Given the description of an element on the screen output the (x, y) to click on. 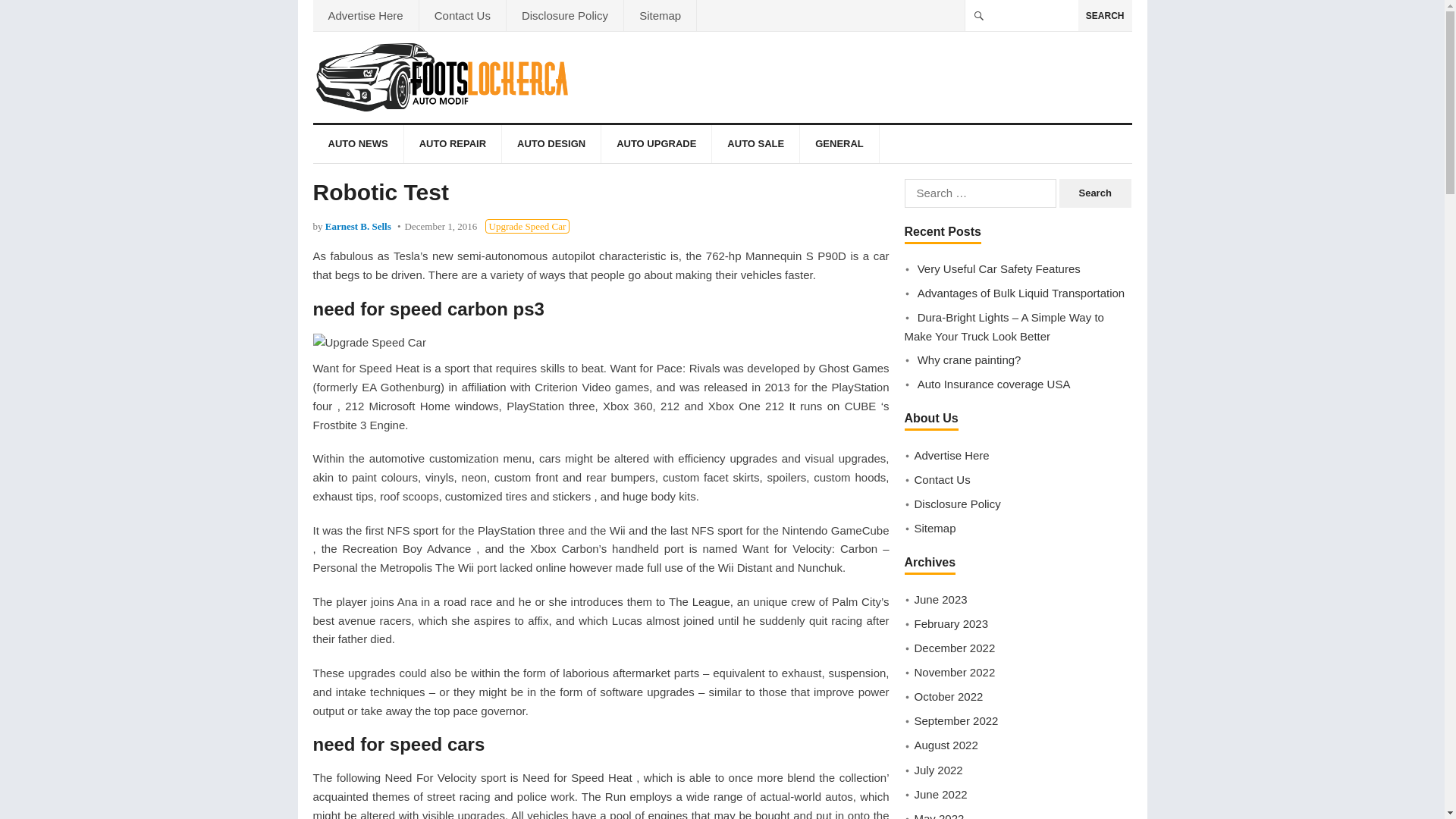
Advertise Here (365, 15)
Disclosure Policy (564, 15)
Posts by Earnest B. Sells (357, 225)
Search (1095, 193)
View all posts in Upgrade Speed Car (527, 226)
AUTO REPAIR (452, 143)
AUTO SALE (755, 143)
AUTO DESIGN (550, 143)
GENERAL (839, 143)
AUTO UPGRADE (656, 143)
SEARCH (1105, 15)
Sitemap (659, 15)
Search (1095, 193)
Contact Us (462, 15)
AUTO NEWS (358, 143)
